Given the description of an element on the screen output the (x, y) to click on. 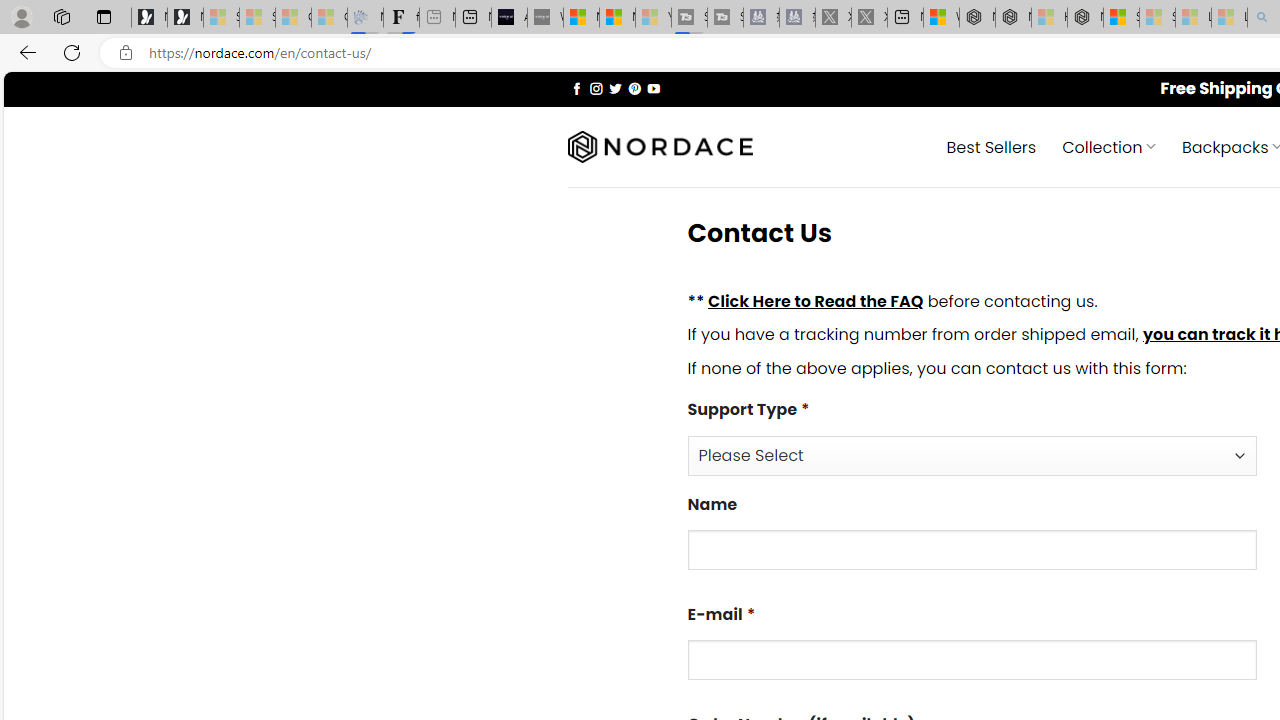
 Best Sellers (990, 146)
Name (971, 549)
  Best Sellers (990, 146)
Nordace - Nordace Siena Is Not An Ordinary Backpack (1085, 17)
